Given the description of an element on the screen output the (x, y) to click on. 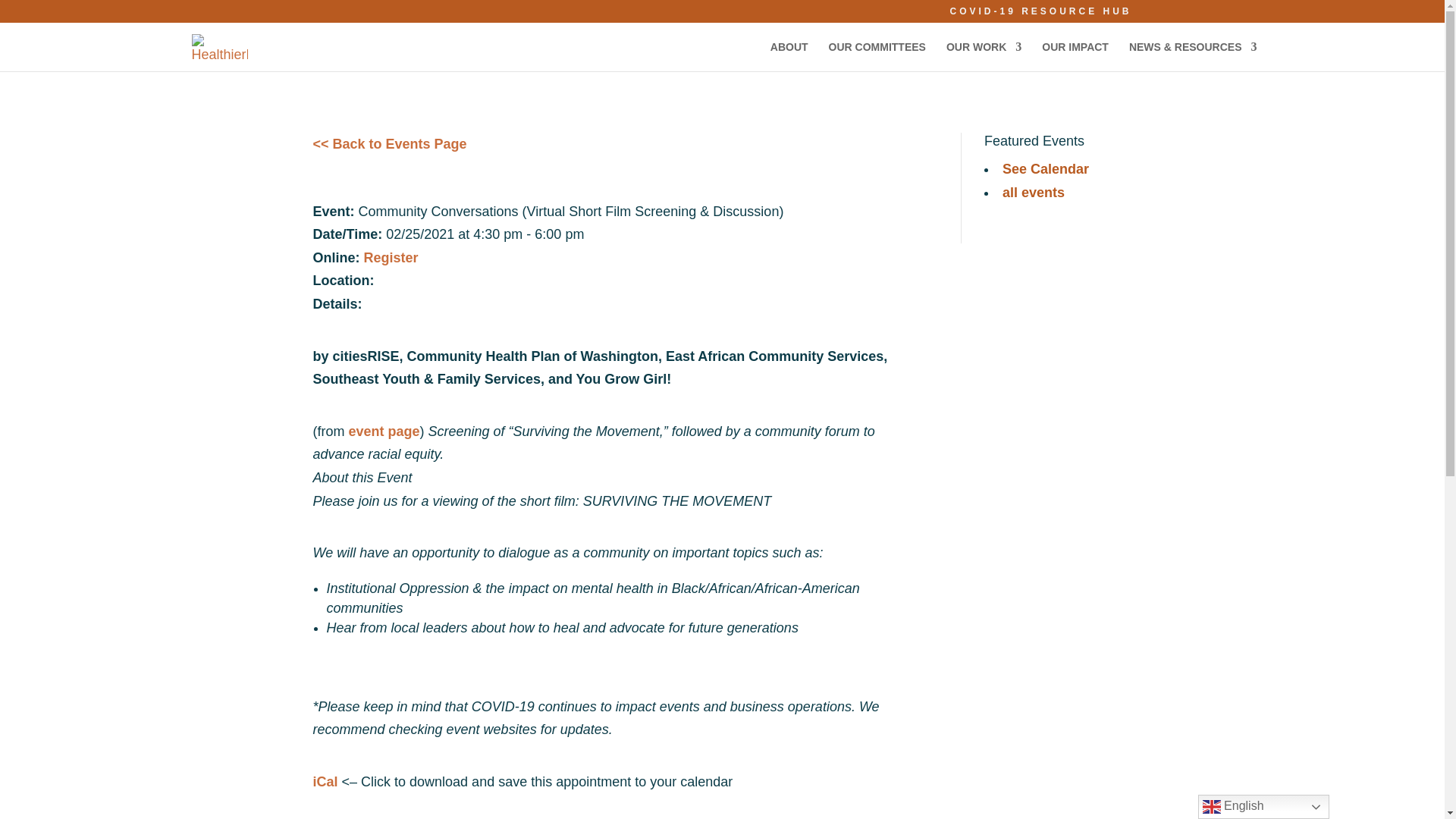
all events (1033, 192)
OUR WORK (984, 56)
COVID-19 RESOURCE HUB (1040, 14)
Register (391, 257)
event page (384, 431)
OUR COMMITTEES (877, 56)
See Calendar (1046, 168)
all events (1033, 192)
ABOUT (789, 56)
OUR IMPACT (1075, 56)
